Given the description of an element on the screen output the (x, y) to click on. 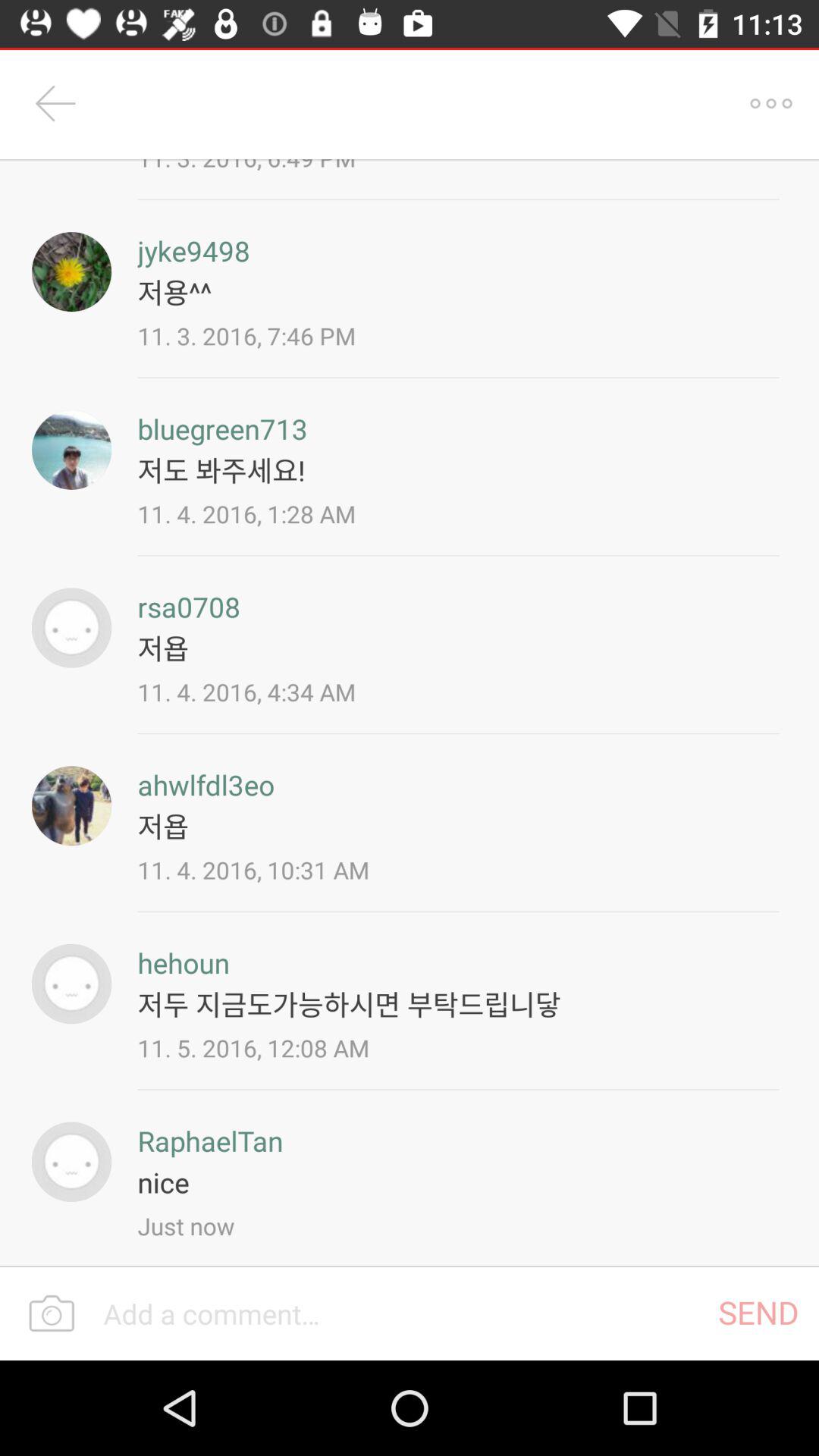
select item next to the 11 3 2016 icon (771, 103)
